Given the description of an element on the screen output the (x, y) to click on. 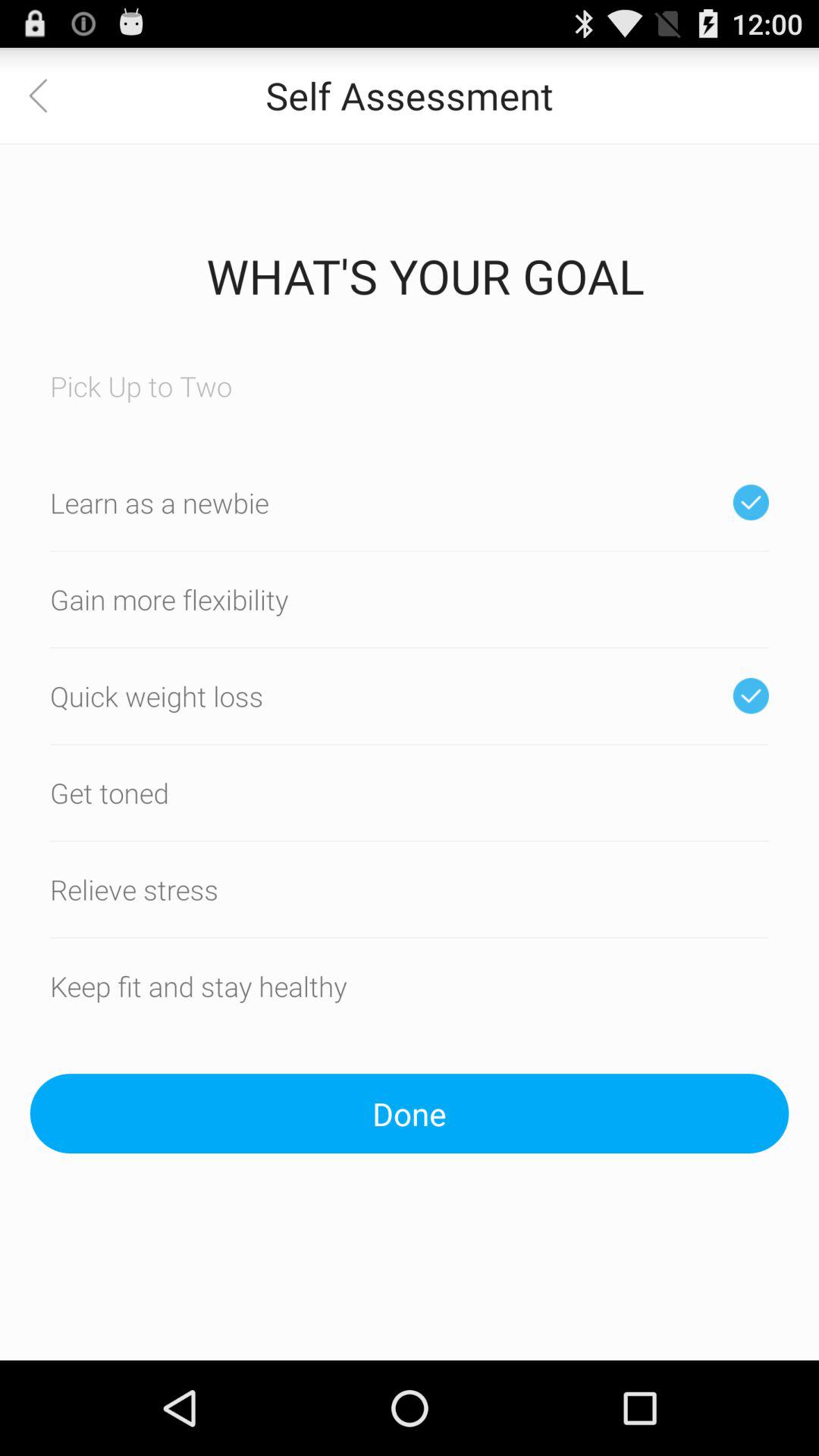
launch the app to the left of self assessment icon (47, 95)
